Given the description of an element on the screen output the (x, y) to click on. 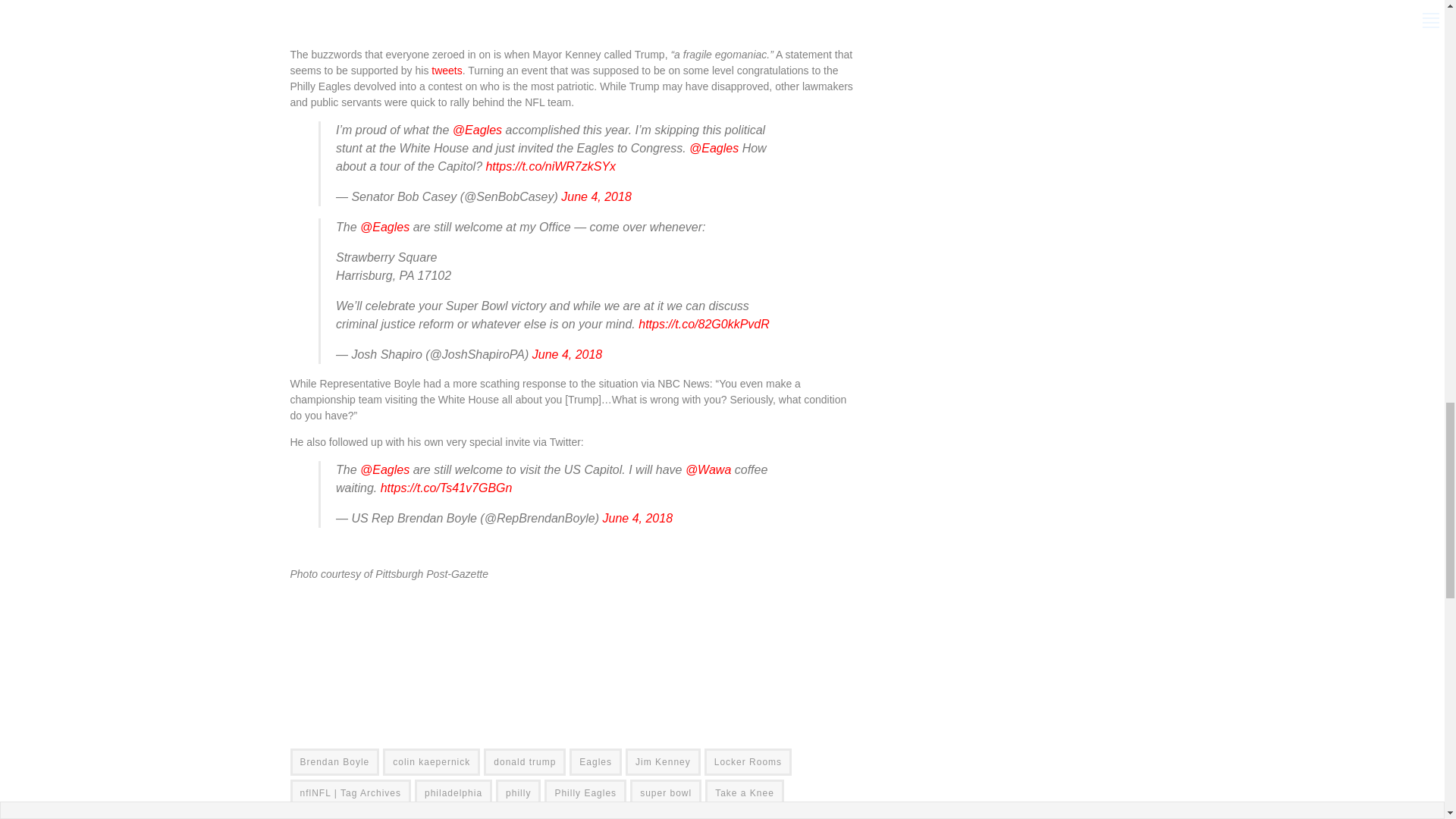
Brendan Boyle (333, 761)
June 4, 2018 (637, 517)
tweets (445, 70)
June 4, 2018 (595, 196)
June 4, 2018 (567, 354)
